Given the description of an element on the screen output the (x, y) to click on. 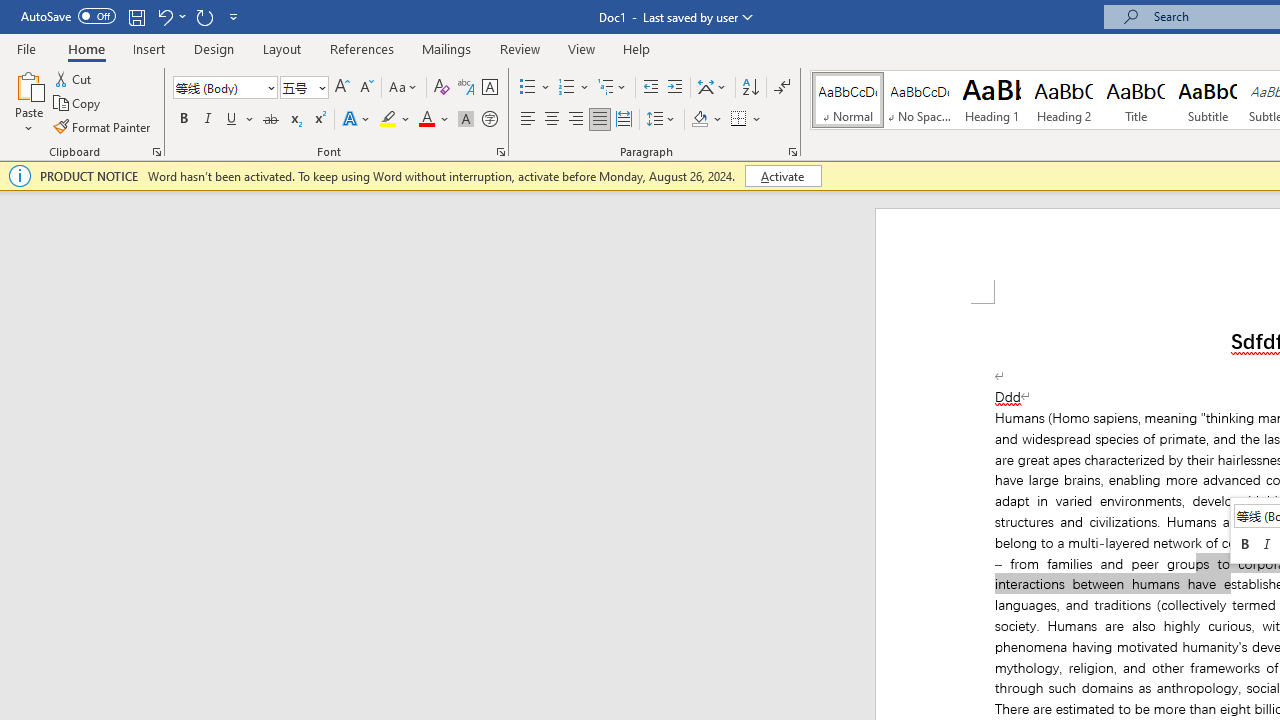
Heading 2 (1063, 100)
Repeat Typing (204, 15)
